Given the description of an element on the screen output the (x, y) to click on. 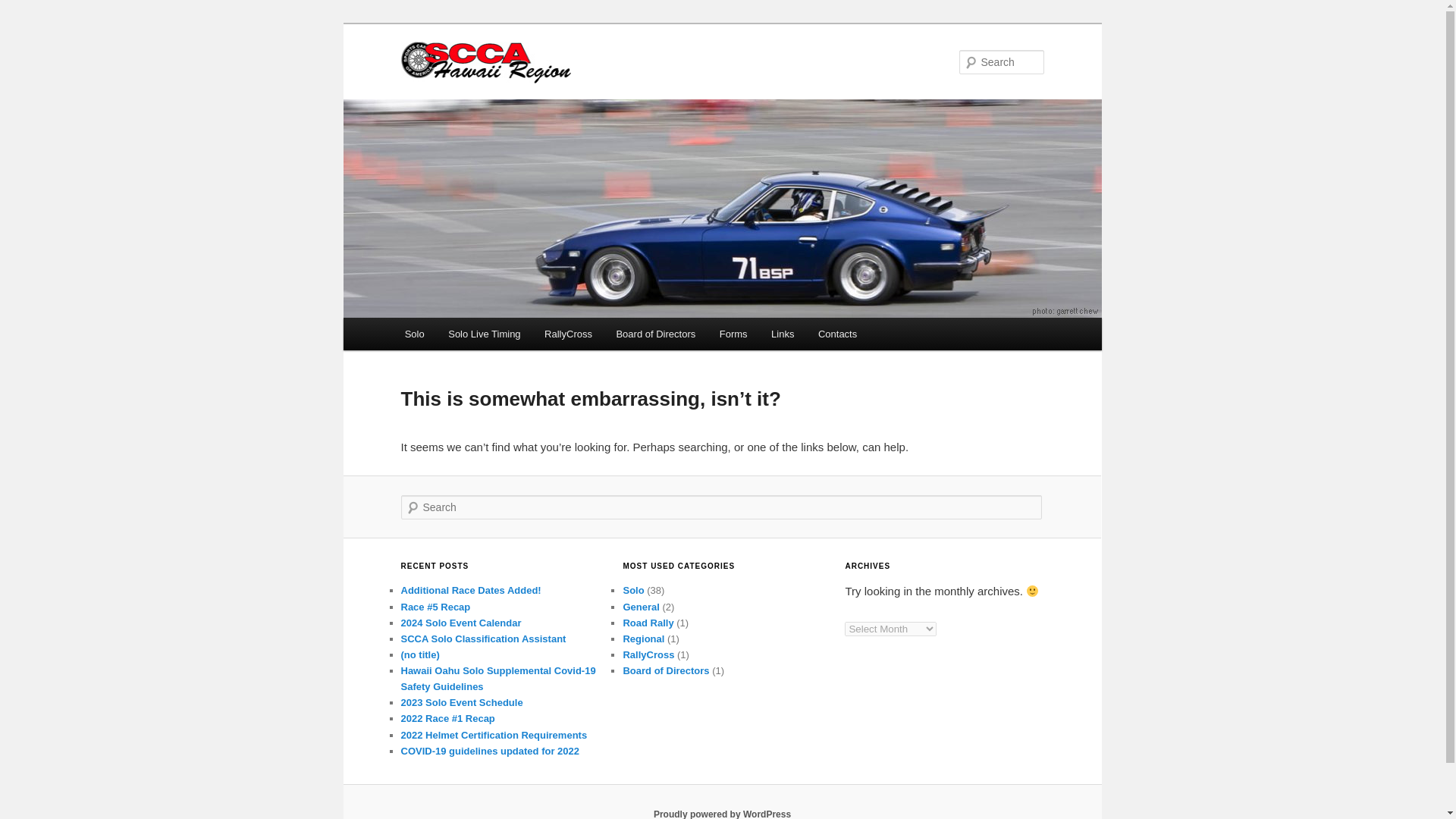
Solo Live Timing (483, 332)
SCCA Hawaii Region (619, 61)
Search (24, 8)
Semantic Personal Publishing Platform (721, 814)
RallyCross (568, 332)
Solo (414, 332)
